Given the description of an element on the screen output the (x, y) to click on. 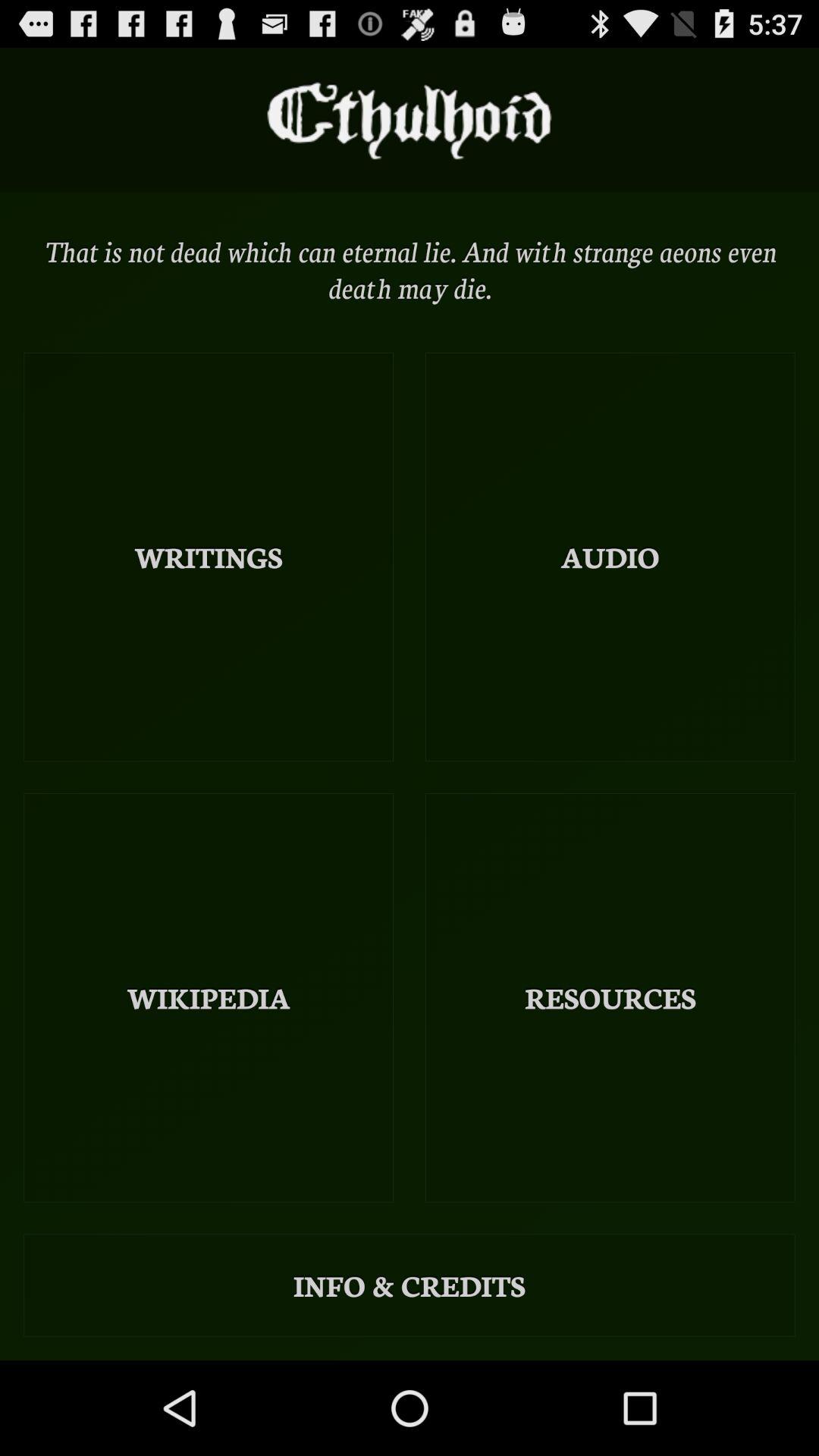
choose the icon above the resources (610, 556)
